Given the description of an element on the screen output the (x, y) to click on. 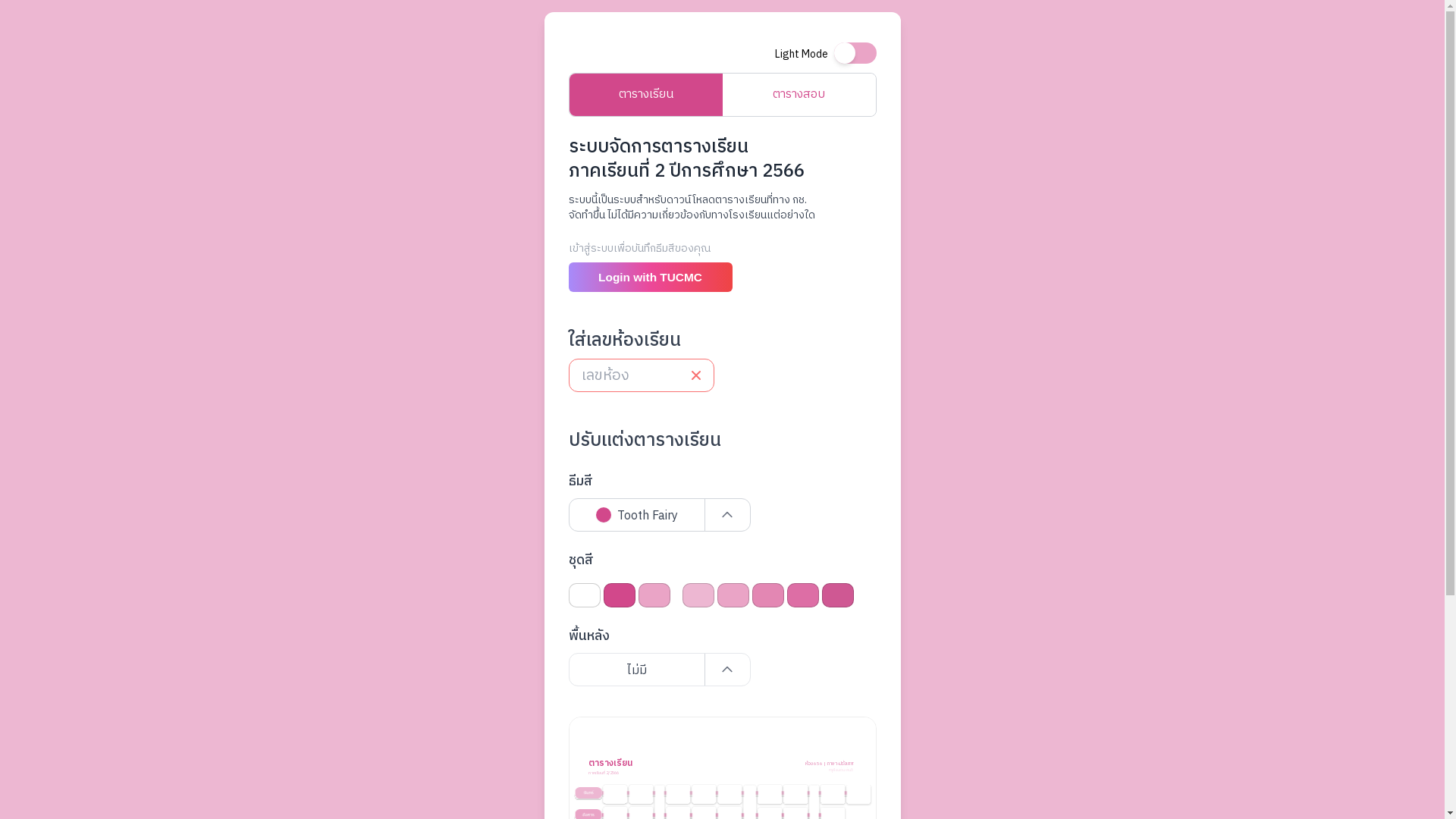
Login with TUCMC Element type: text (650, 276)
